Given the description of an element on the screen output the (x, y) to click on. 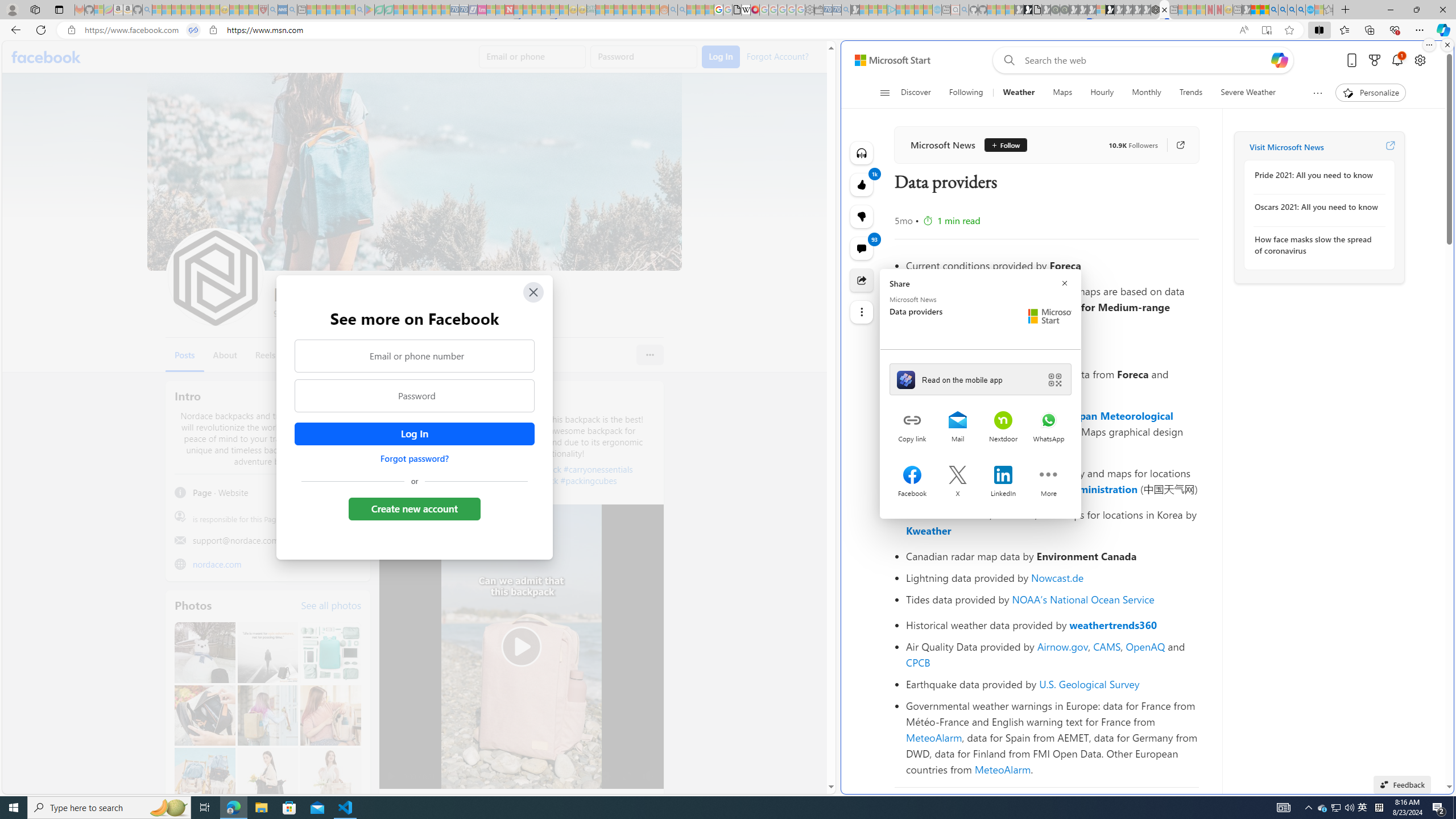
Create new account (413, 508)
Trends (1190, 92)
Nowcast.de (1057, 577)
Follow (1001, 144)
View comments 93 Comment (861, 248)
